Given the description of an element on the screen output the (x, y) to click on. 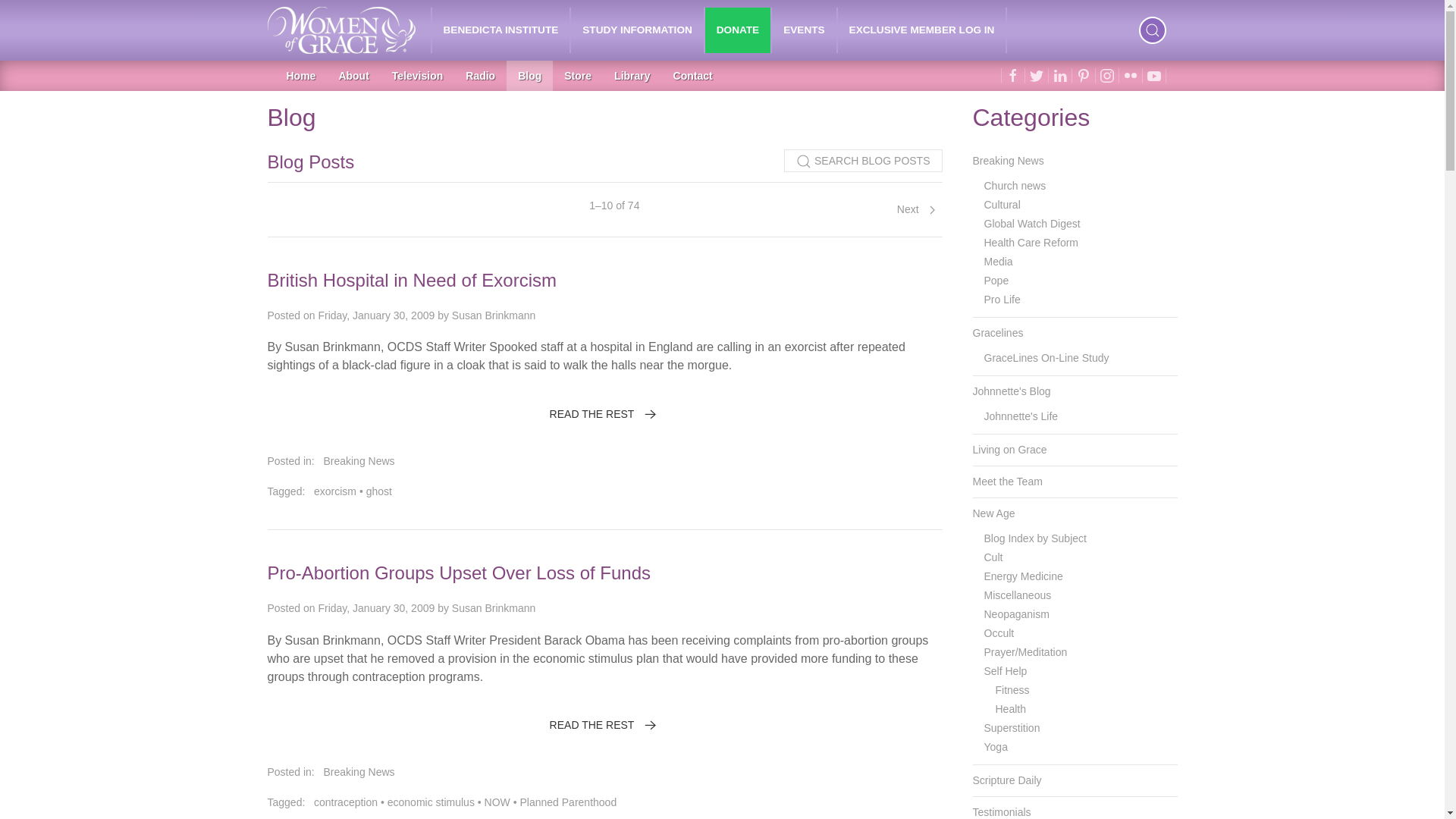
exorcism (335, 491)
contraception (345, 802)
EXCLUSIVE MEMBER LOG IN (922, 30)
ghost (378, 491)
 1:41 pm (375, 315)
EVENTS (803, 30)
Susan Brinkmann (493, 315)
Radio (480, 75)
DONATE (737, 30)
BENEDICTA INSTITUTE (501, 30)
